Given the description of an element on the screen output the (x, y) to click on. 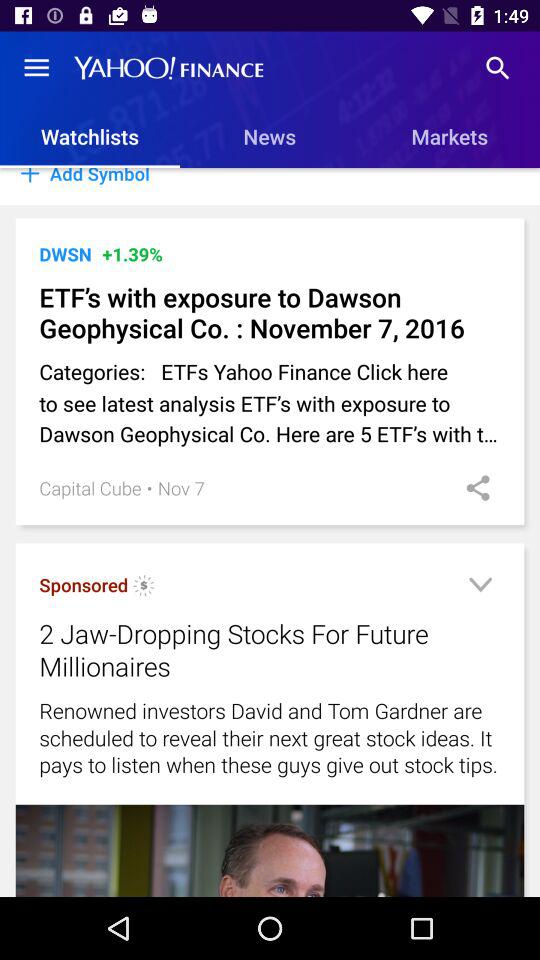
tap icon below capital cube item (143, 588)
